Given the description of an element on the screen output the (x, y) to click on. 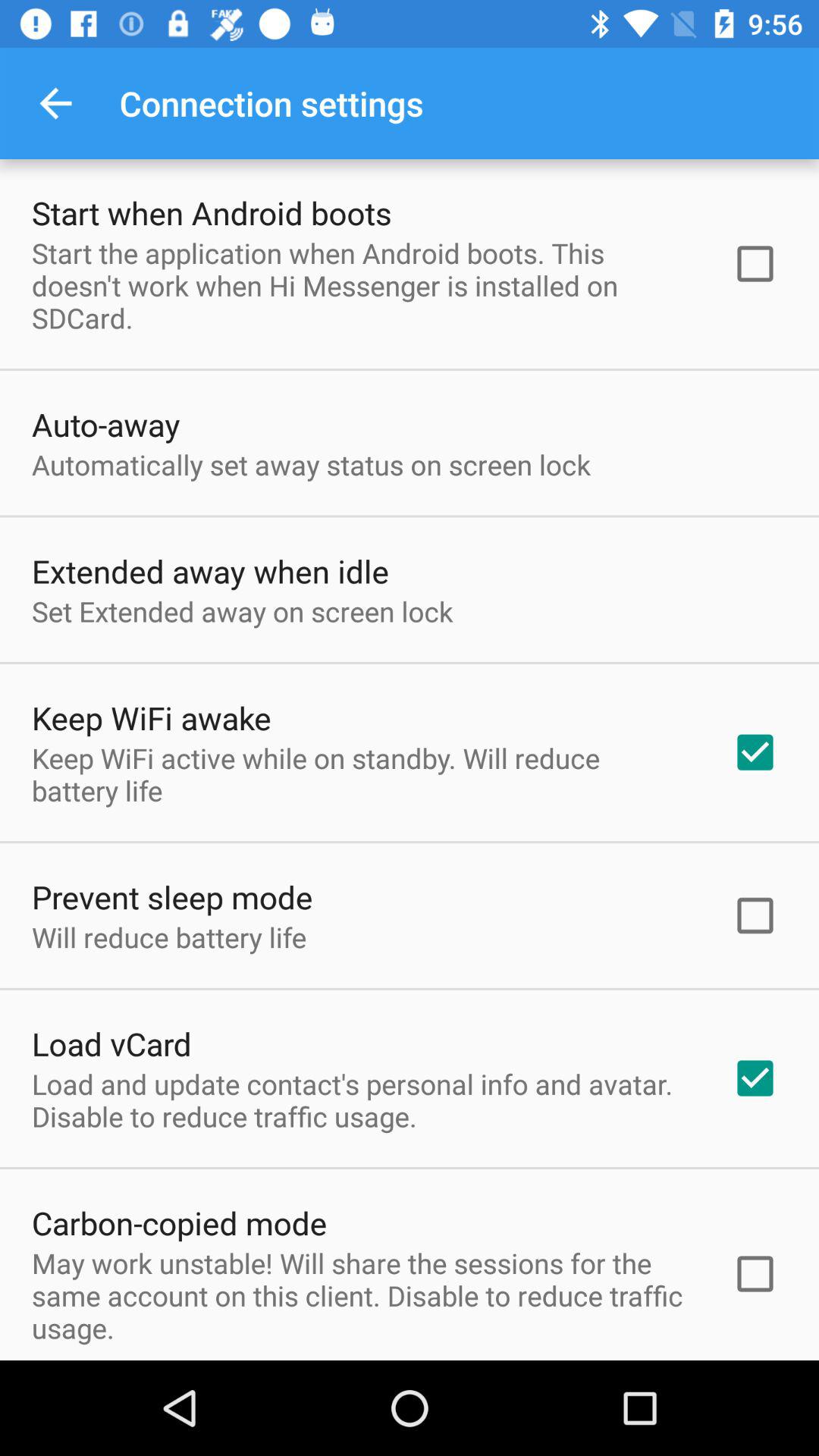
turn off item below the keep wifi active item (171, 896)
